Given the description of an element on the screen output the (x, y) to click on. 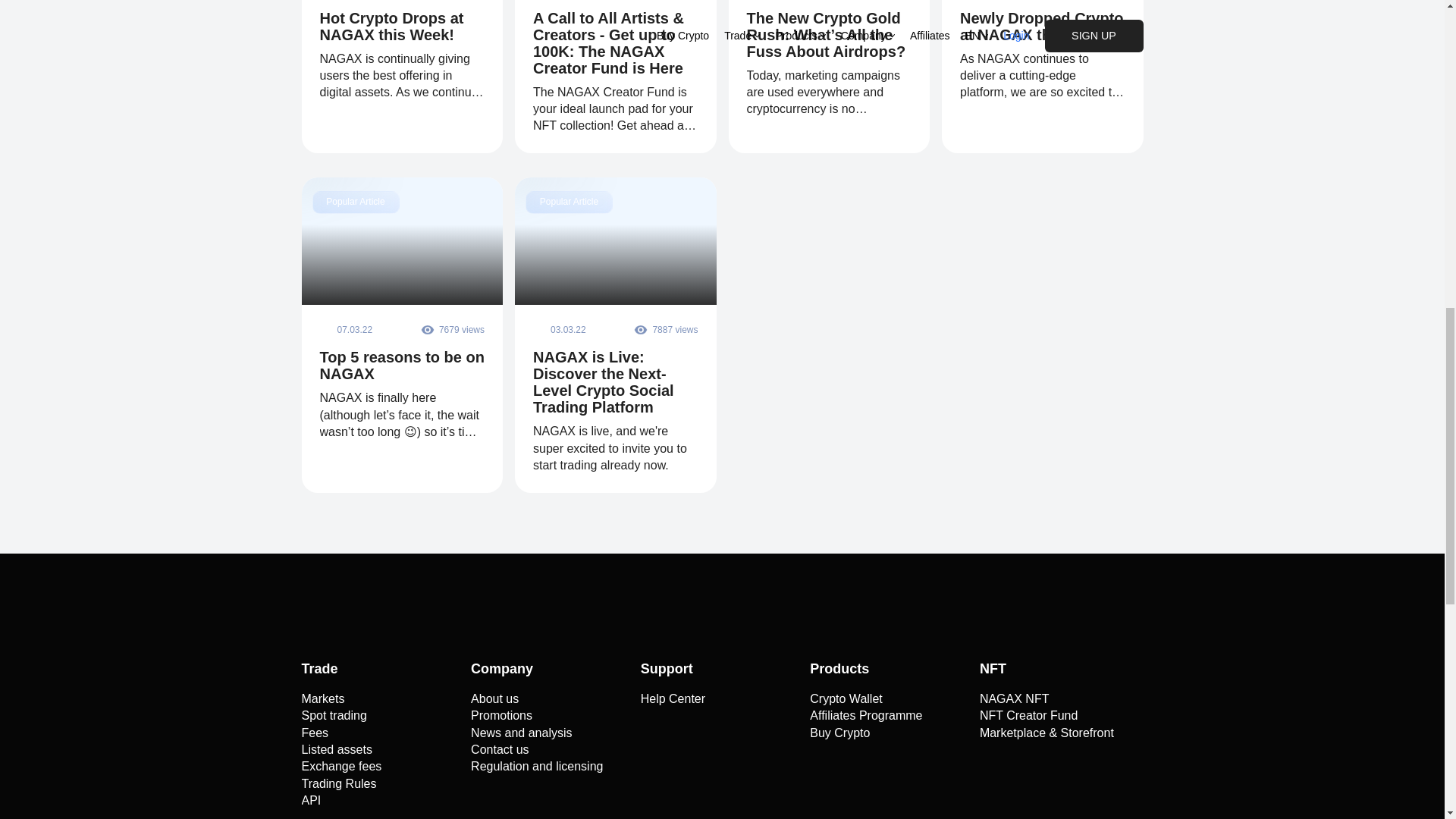
Exchange fees (341, 766)
Fees (315, 733)
Help Center (672, 699)
About us (494, 699)
Promotions (501, 715)
Contact us (499, 750)
API (311, 800)
Spot trading (333, 715)
Listed assets (336, 750)
News and analysis (521, 733)
Affiliates Programme (865, 715)
Regulation and licensing (536, 766)
Crypto Wallet (845, 699)
Markets (323, 699)
Trading Rules (339, 783)
